Given the description of an element on the screen output the (x, y) to click on. 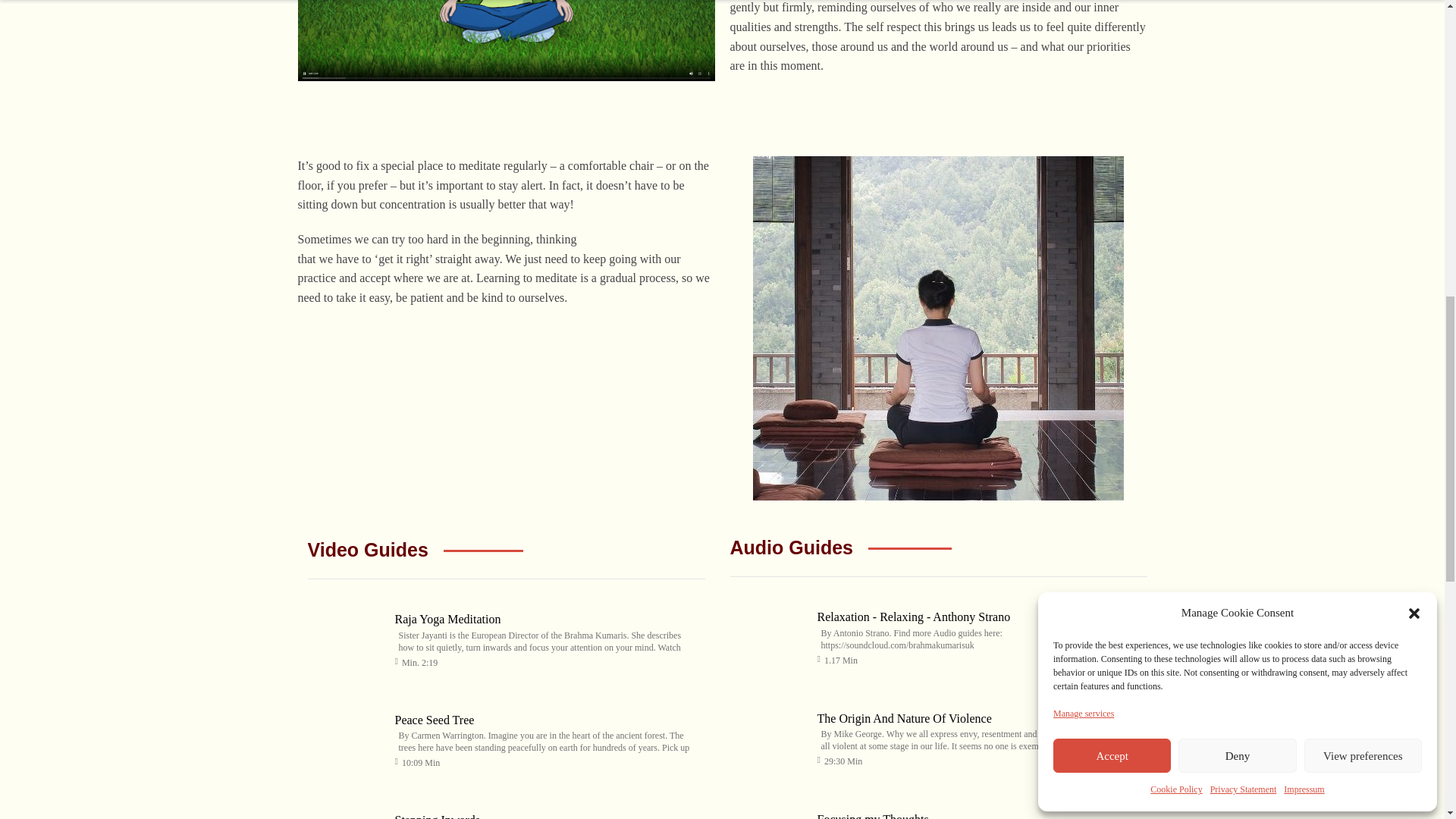
The Origin And Nature Of Violence (903, 717)
Peace Seed Tree (345, 736)
Stepping Inwards (436, 816)
Relaxation - Relaxing - Anthony Strano (767, 633)
Peace Seed Tree (434, 719)
Stepping Inwards (345, 809)
Focusing my Thoughts (872, 816)
Focusing my Thoughts (767, 808)
Raja Yoga Meditation (447, 618)
The Origin And Nature Of Violence (767, 735)
Raja Yoga Meditation (345, 636)
Relaxation - Relaxing - Anthony Strano (913, 616)
